Given the description of an element on the screen output the (x, y) to click on. 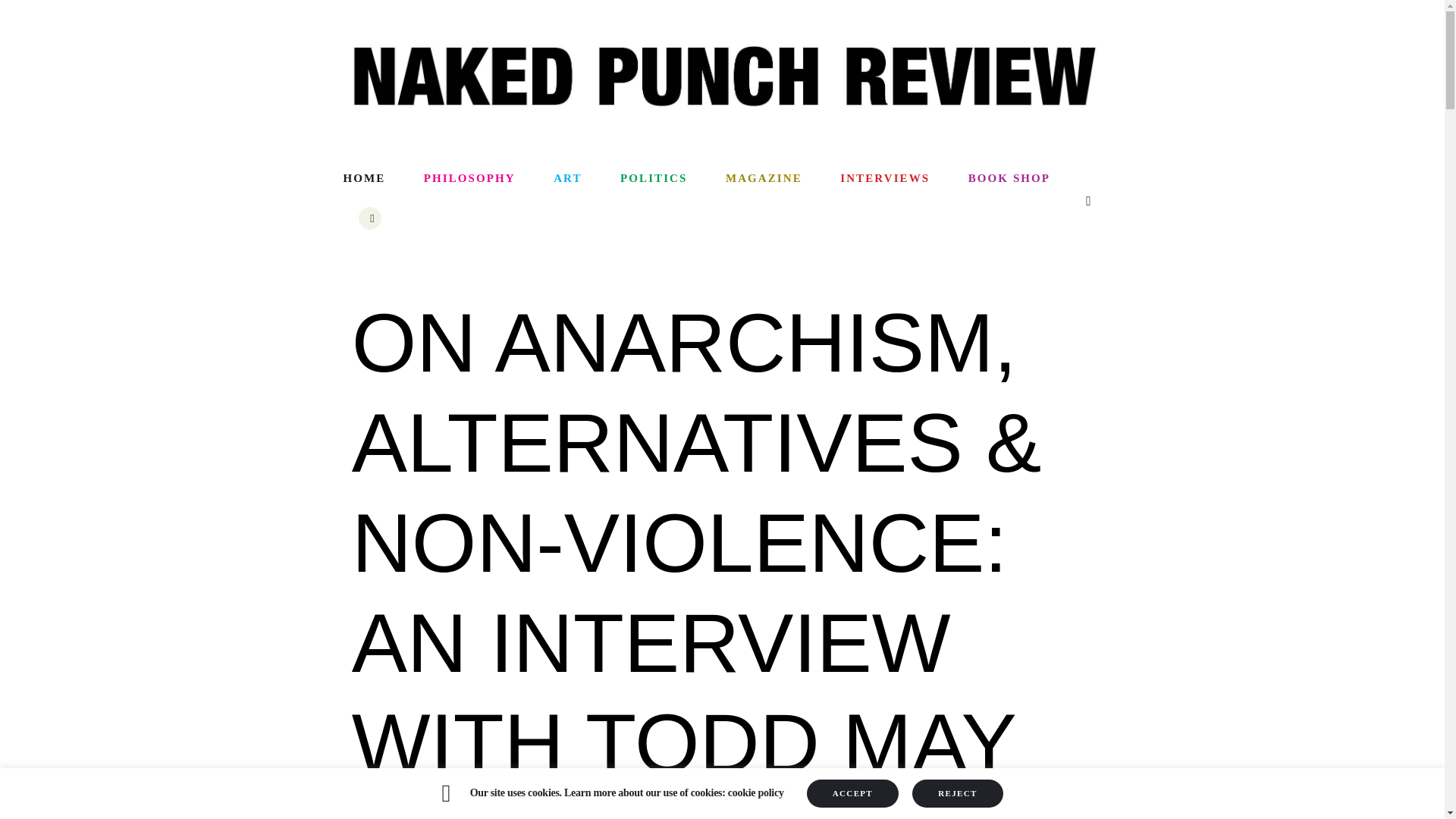
BOOK SHOP (1008, 178)
PHILOSOPHY (469, 178)
ART (567, 178)
MAGAZINE (763, 178)
POLITICS (653, 178)
INTERVIEWS (885, 178)
HOME (373, 178)
